Given the description of an element on the screen output the (x, y) to click on. 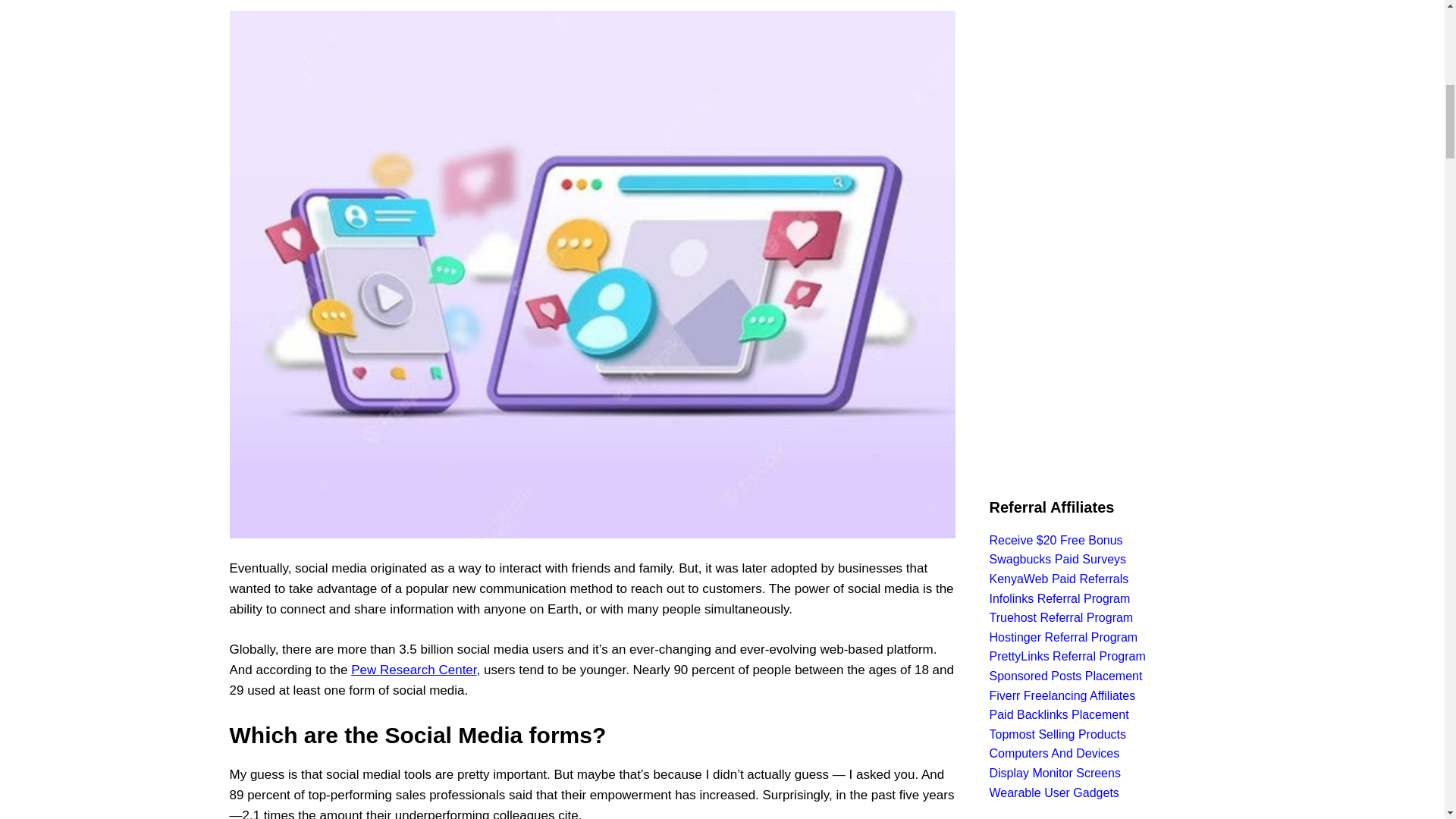
Pew Research Center (413, 669)
